Given the description of an element on the screen output the (x, y) to click on. 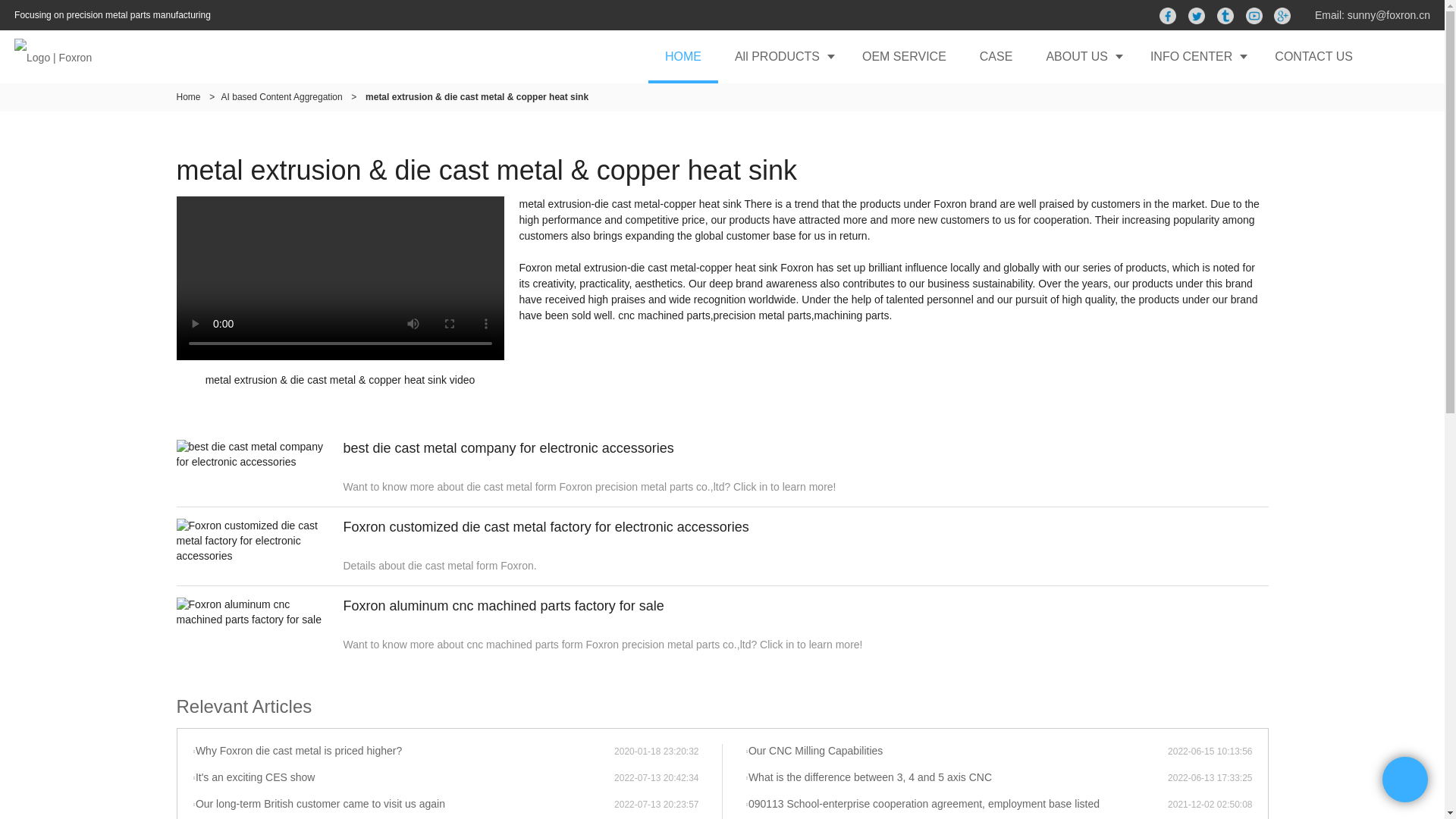
Why Foxron die cast metal is priced higher? (403, 751)
AI based Content Aggregation (281, 96)
All PRODUCTS (781, 56)
CASE (995, 56)
CONTACT US (1313, 56)
Our long-term British customer came to visit us again (403, 804)
INFO CENTER (1195, 56)
ABOUT US (1081, 56)
OEM SERVICE (903, 56)
